Given the description of an element on the screen output the (x, y) to click on. 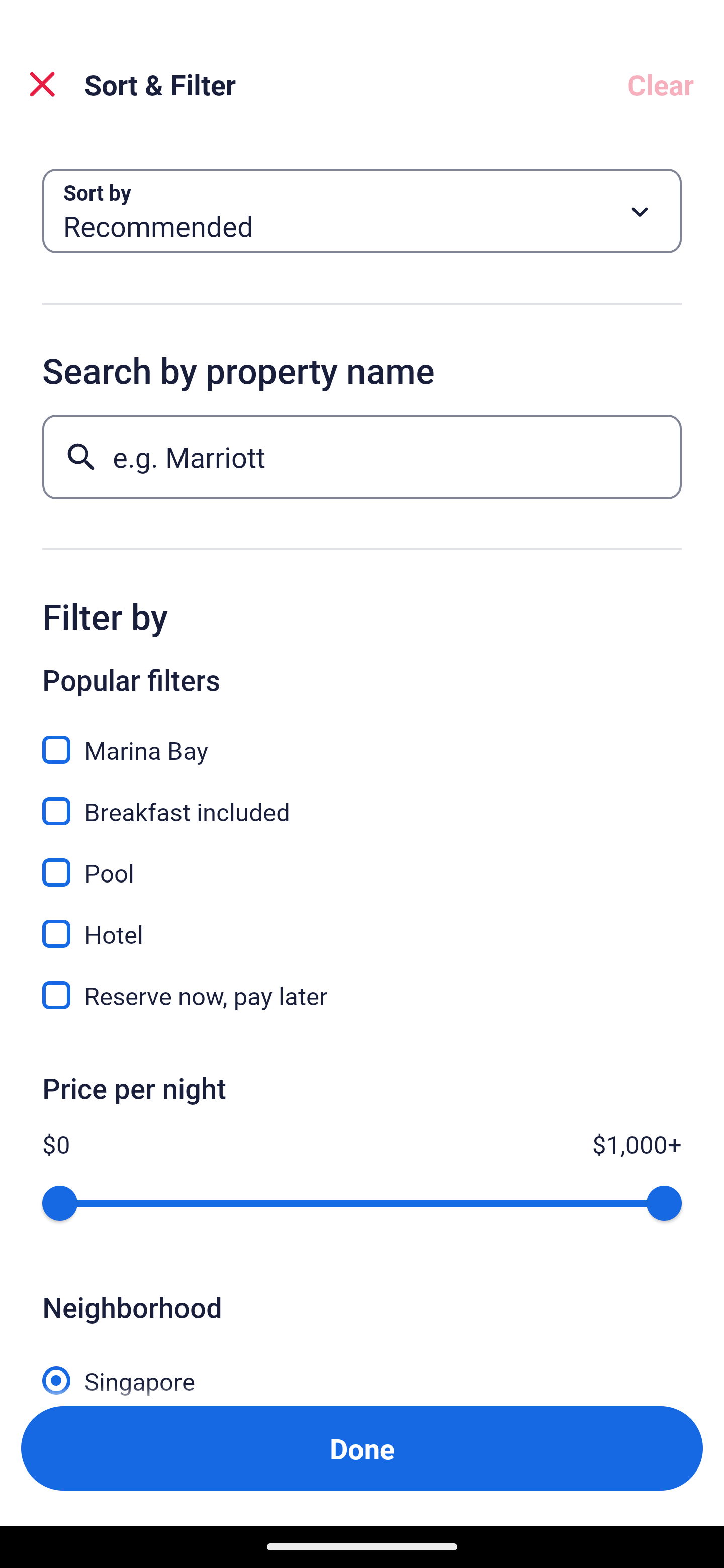
Close Sort and Filter (42, 84)
Clear (660, 84)
Sort by Button Recommended (361, 211)
e.g. Marriott Button (361, 455)
Marina Bay, Marina Bay (361, 738)
Breakfast included, Breakfast included (361, 800)
Pool, Pool (361, 861)
Hotel, Hotel (361, 922)
Reserve now, pay later, Reserve now, pay later (361, 995)
Apply and close Sort and Filter Done (361, 1448)
